Given the description of an element on the screen output the (x, y) to click on. 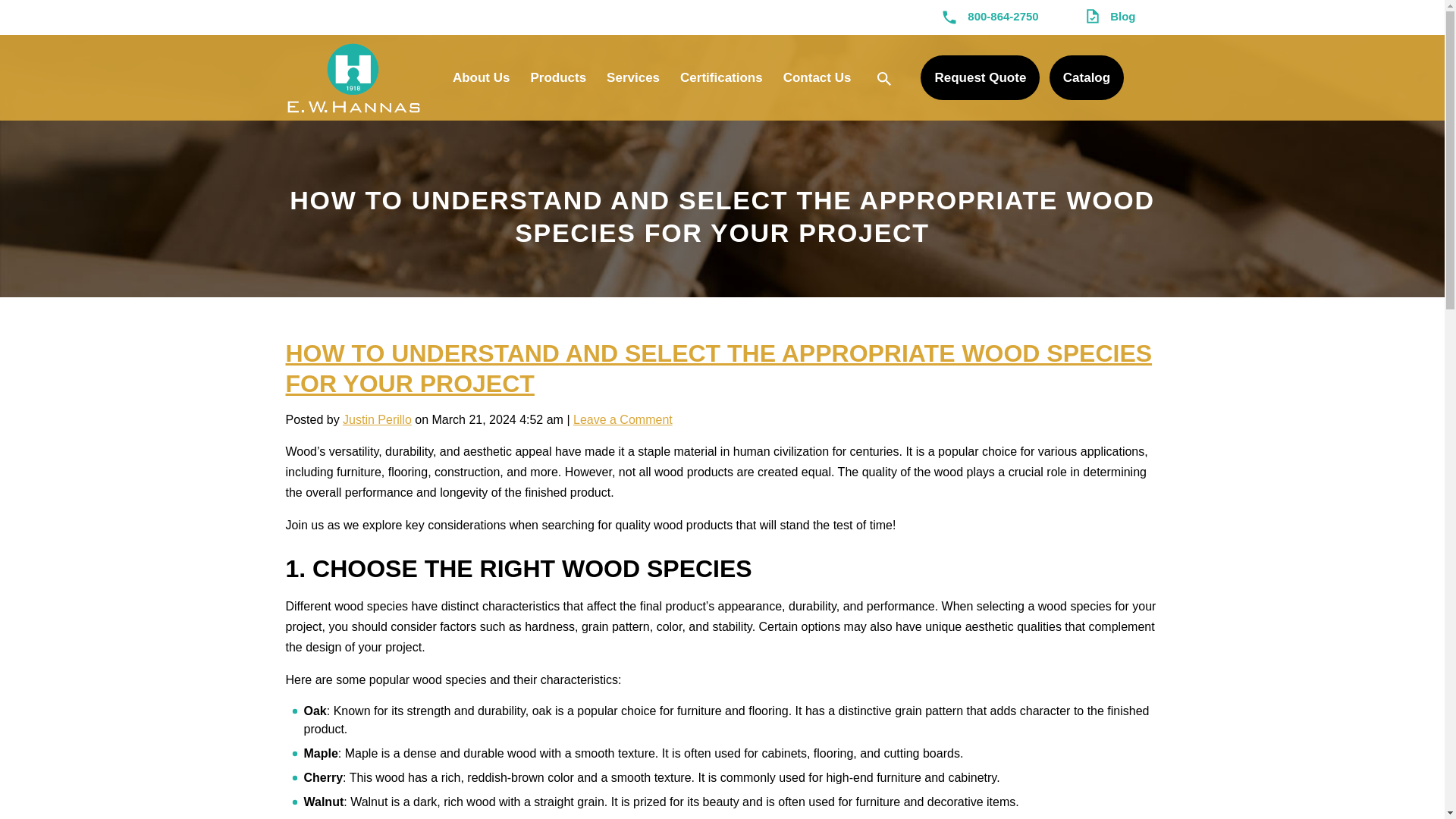
Justin Perillo (377, 419)
Request Quote (979, 77)
Blog (1109, 16)
800-864-2750 (990, 16)
Certifications (721, 77)
Catalog (1086, 77)
Leave a Comment (622, 419)
